Given the description of an element on the screen output the (x, y) to click on. 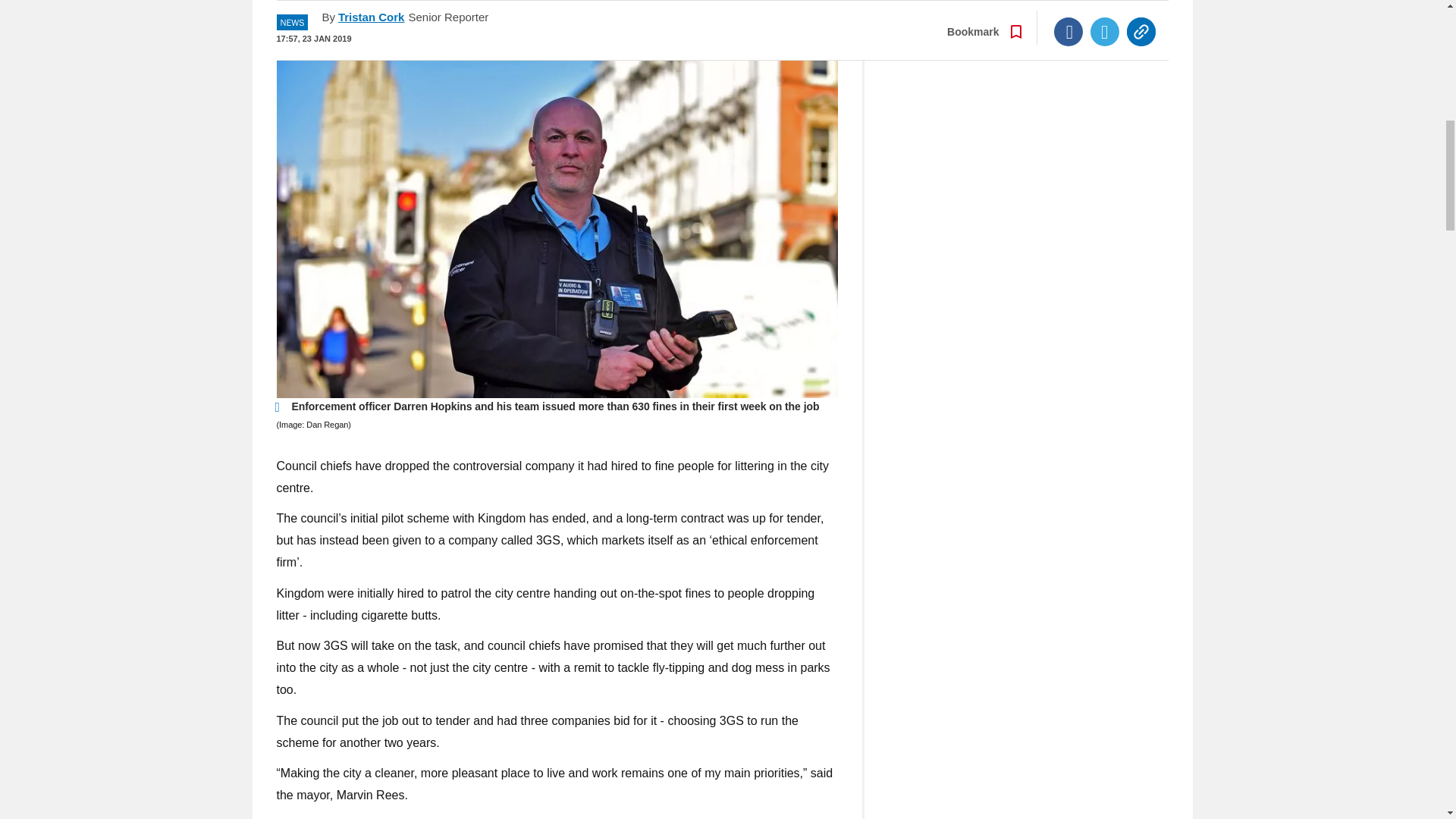
Go (730, 2)
